Given the description of an element on the screen output the (x, y) to click on. 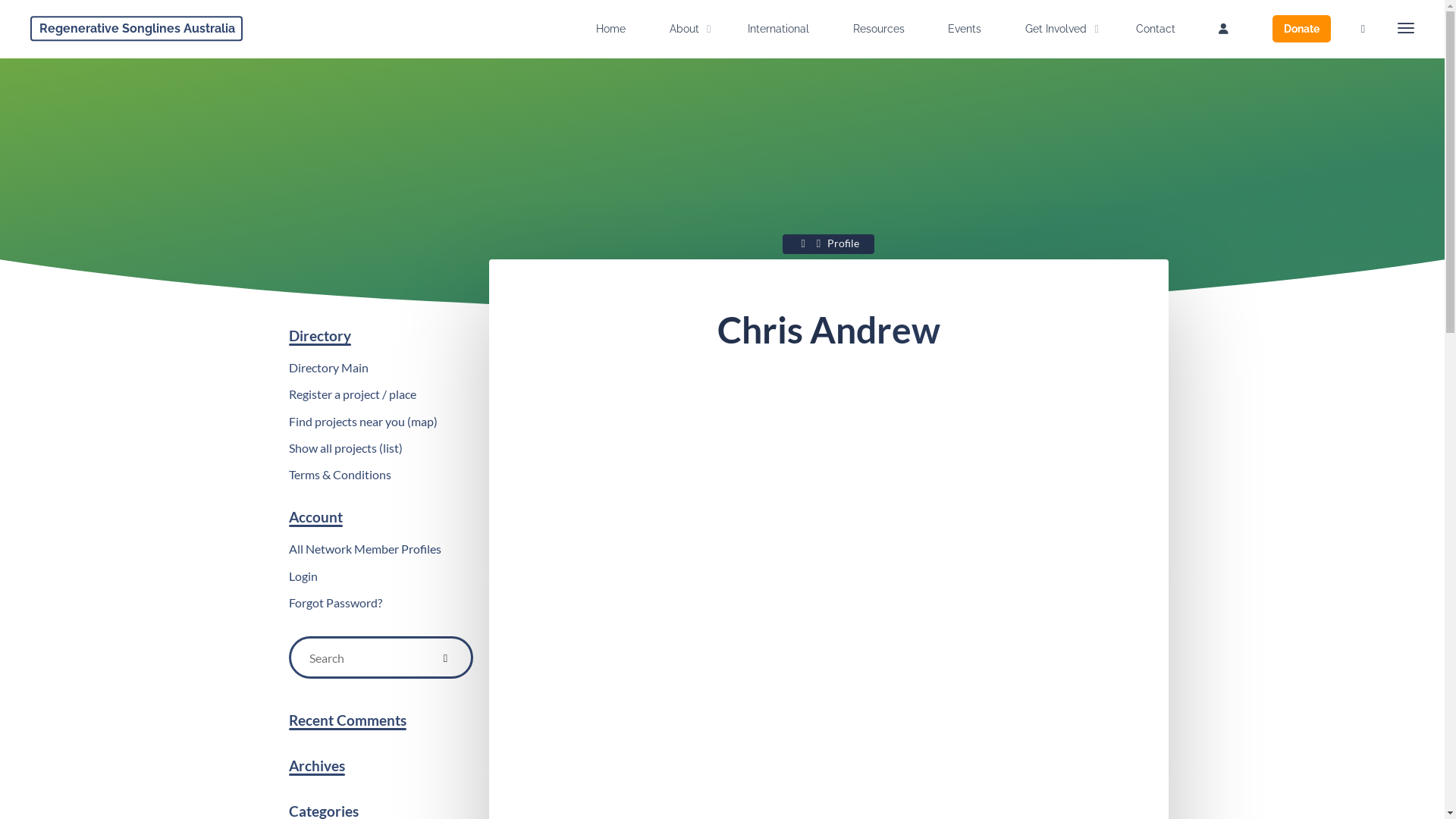
Register a project / place Element type: text (351, 393)
Show all projects (list) Element type: text (344, 447)
Terms & Conditions Element type: text (339, 474)
Search Element type: text (445, 657)
Home Element type: text (804, 242)
International Element type: text (778, 28)
Resources Element type: text (878, 28)
Regenerative Songlines Australia Element type: text (136, 27)
Find projects near you (map) Element type: text (362, 421)
Forgot Password? Element type: text (334, 602)
Events Element type: text (965, 28)
Donate Element type: text (1301, 28)
Get Involved Element type: text (1058, 28)
About Element type: text (686, 28)
Home Element type: text (610, 28)
Contact Element type: text (1155, 28)
Search Element type: text (1362, 28)
Directory Main Element type: text (327, 367)
Login Element type: text (302, 575)
All Network Member Profiles Element type: text (364, 548)
